Given the description of an element on the screen output the (x, y) to click on. 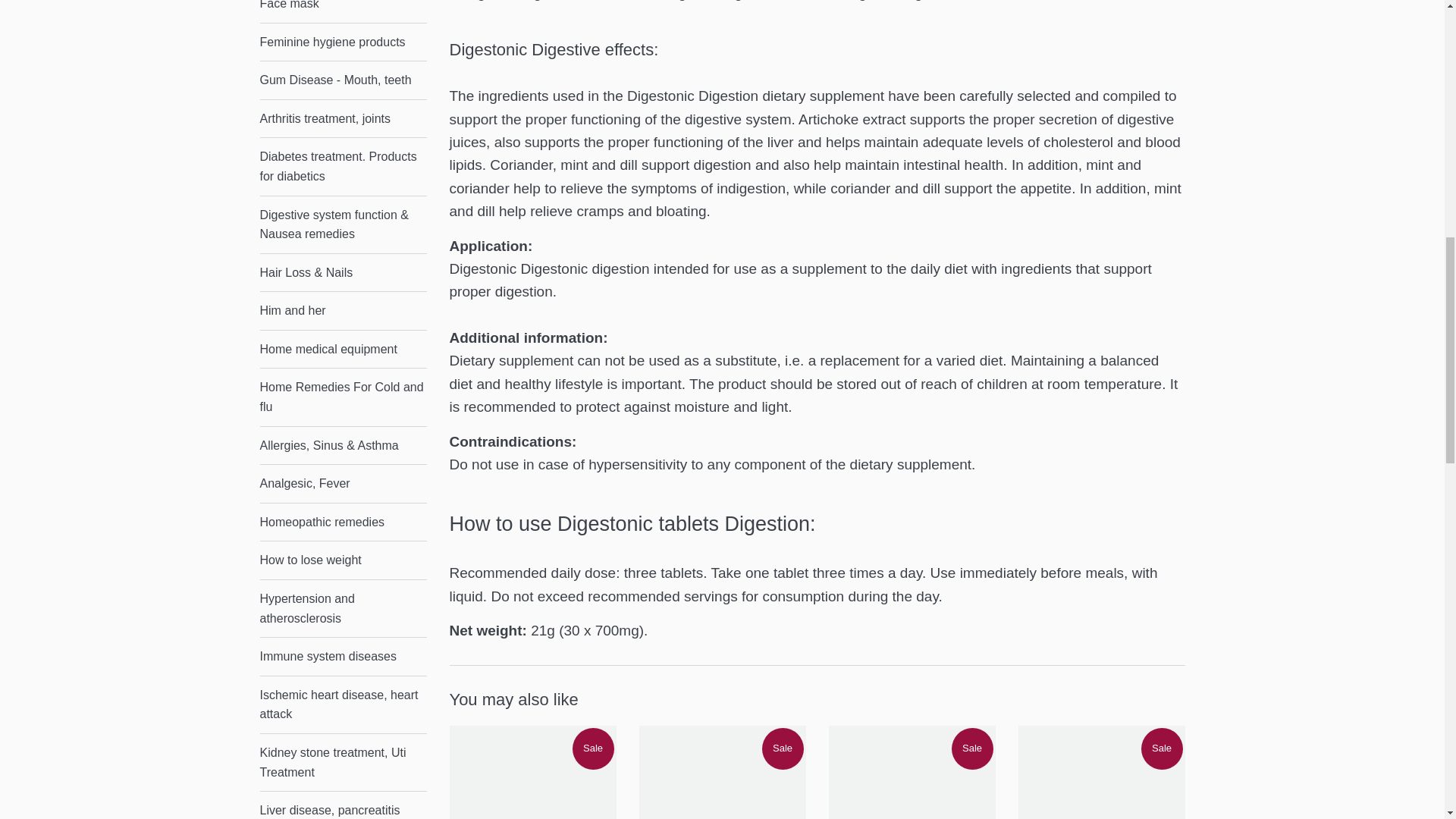
Ischemic heart disease, heart attack (342, 704)
Activated charcoal, Activated carbon complex x 20 capsules (722, 772)
Immune system diseases (342, 656)
Gum Disease - Mouth, teeth (342, 80)
Diabetes treatment. Products for diabetics (342, 166)
Feminine hygiene products (342, 42)
Hypertension and atherosclerosis (342, 608)
Home medical equipment (342, 349)
ACIDOLIT x 10 sachets apple flavor (531, 772)
Him and her (342, 310)
